Given the description of an element on the screen output the (x, y) to click on. 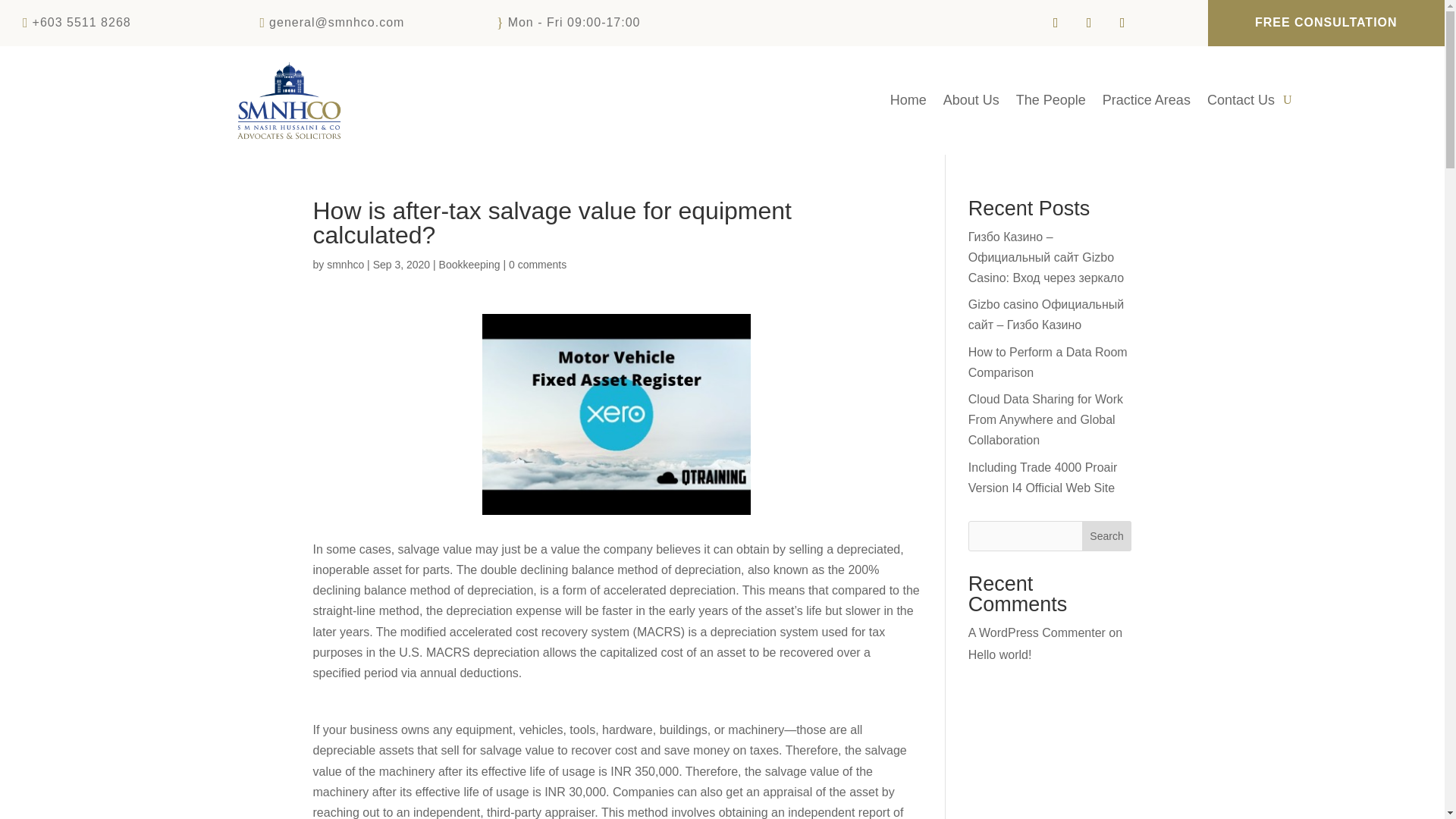
Follow on Twitter (1088, 22)
Home (907, 103)
About Us (970, 103)
Follow on Instagram (1121, 22)
Practice Areas (1146, 103)
Bookkeeping (469, 264)
Contact Us (1241, 103)
The People (1051, 103)
smnhco (345, 264)
0 comments (537, 264)
